Given the description of an element on the screen output the (x, y) to click on. 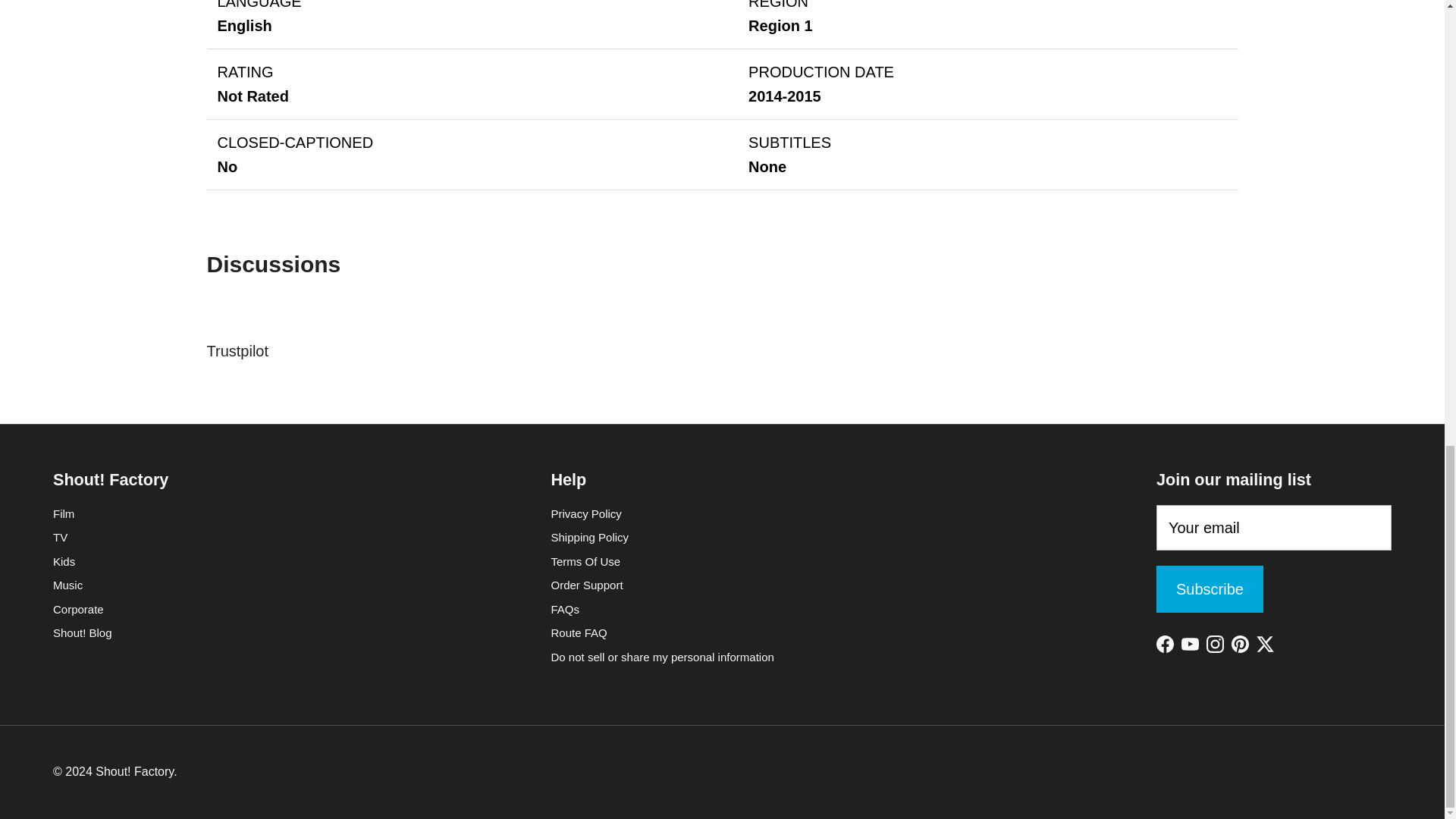
Shout! Factory on Pinterest (1240, 643)
Shout! Factory on YouTube (1189, 643)
Shout! Factory on Twitter (1265, 643)
Shout! Factory on Instagram (1215, 643)
Shout! Factory on Facebook (1164, 643)
